Given the description of an element on the screen output the (x, y) to click on. 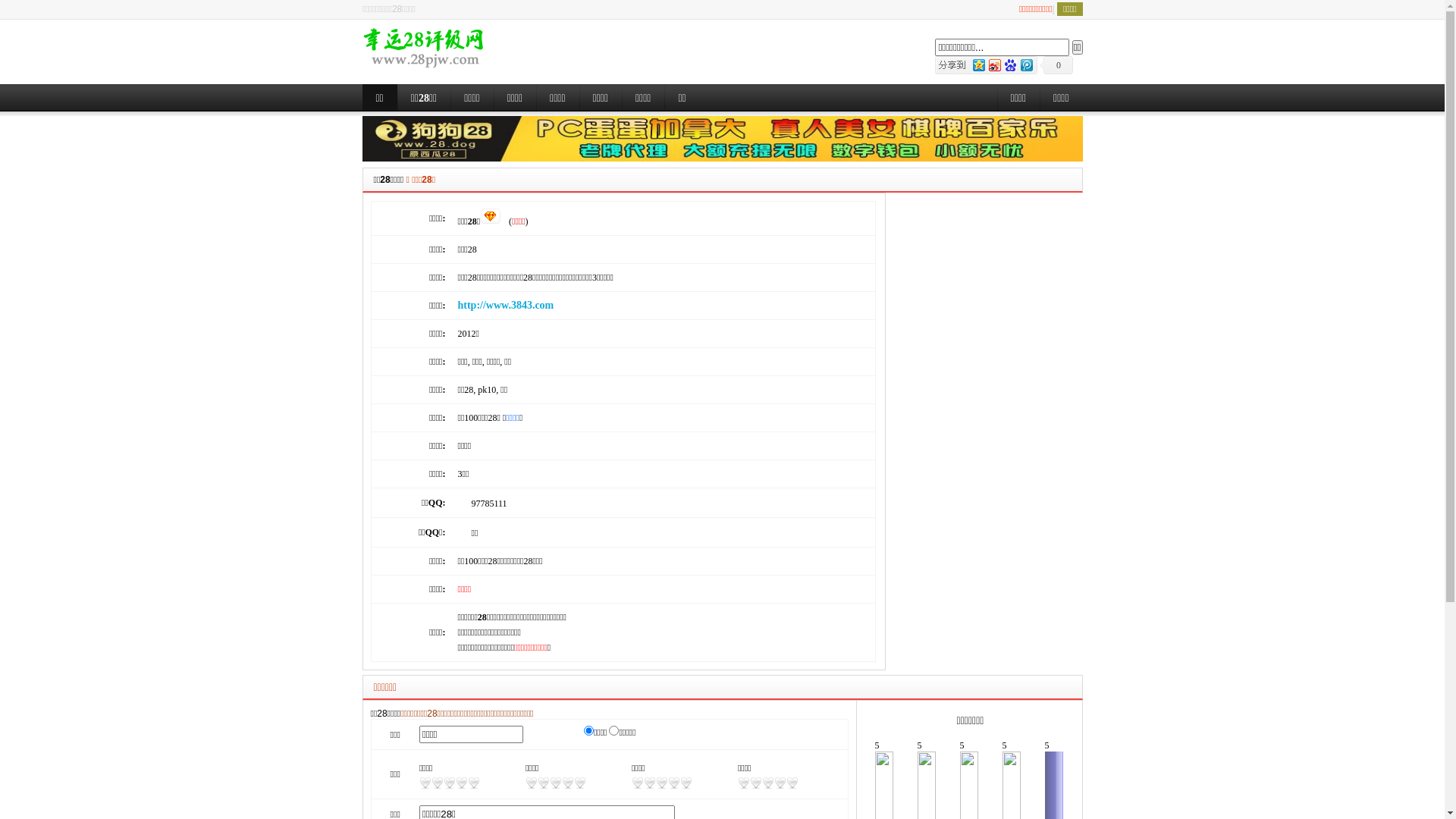
0 Element type: text (1056, 65)
http://www.3843.com Element type: text (506, 304)
